Given the description of an element on the screen output the (x, y) to click on. 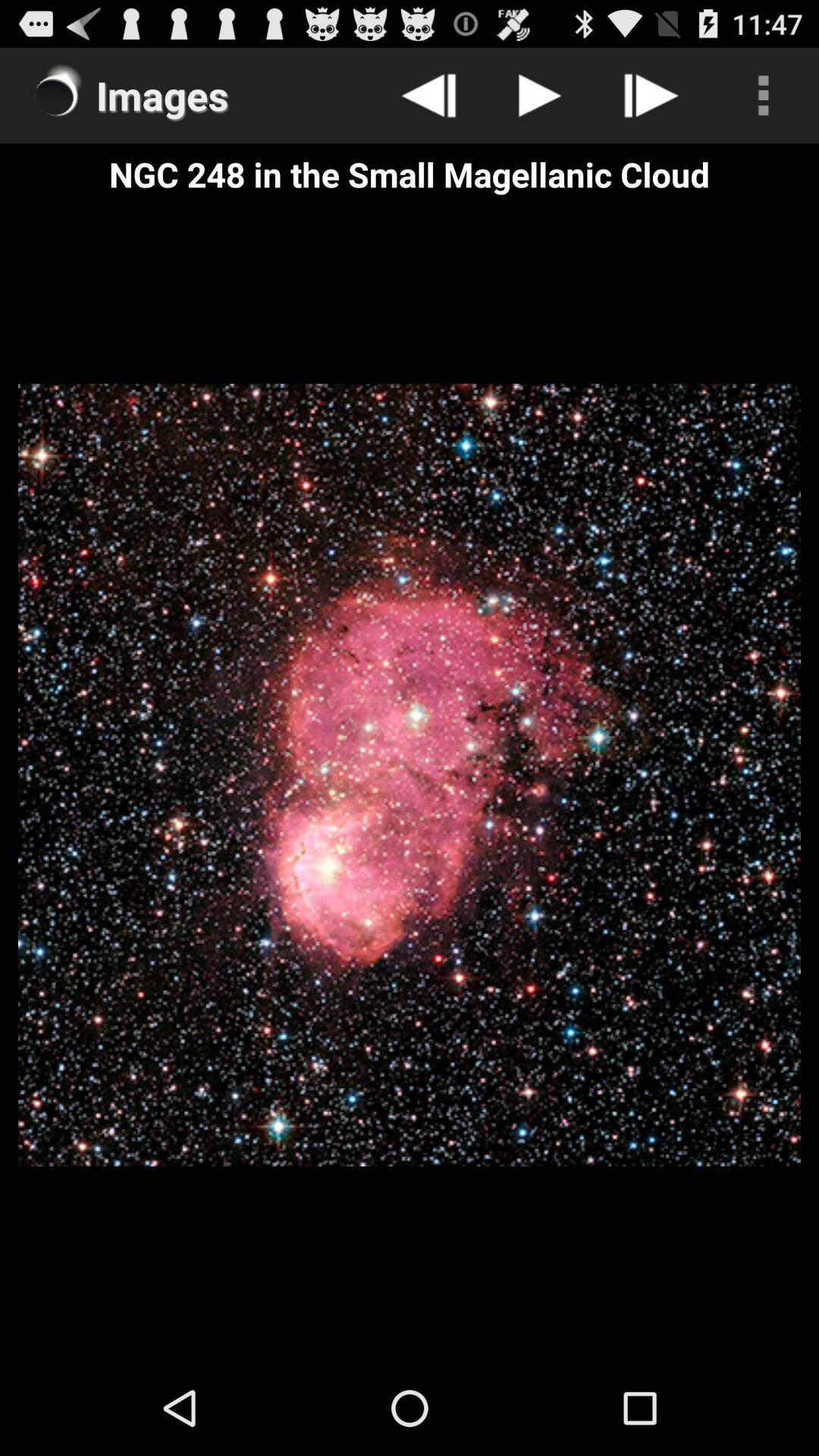
click app above ngc 248 in (763, 95)
